Given the description of an element on the screen output the (x, y) to click on. 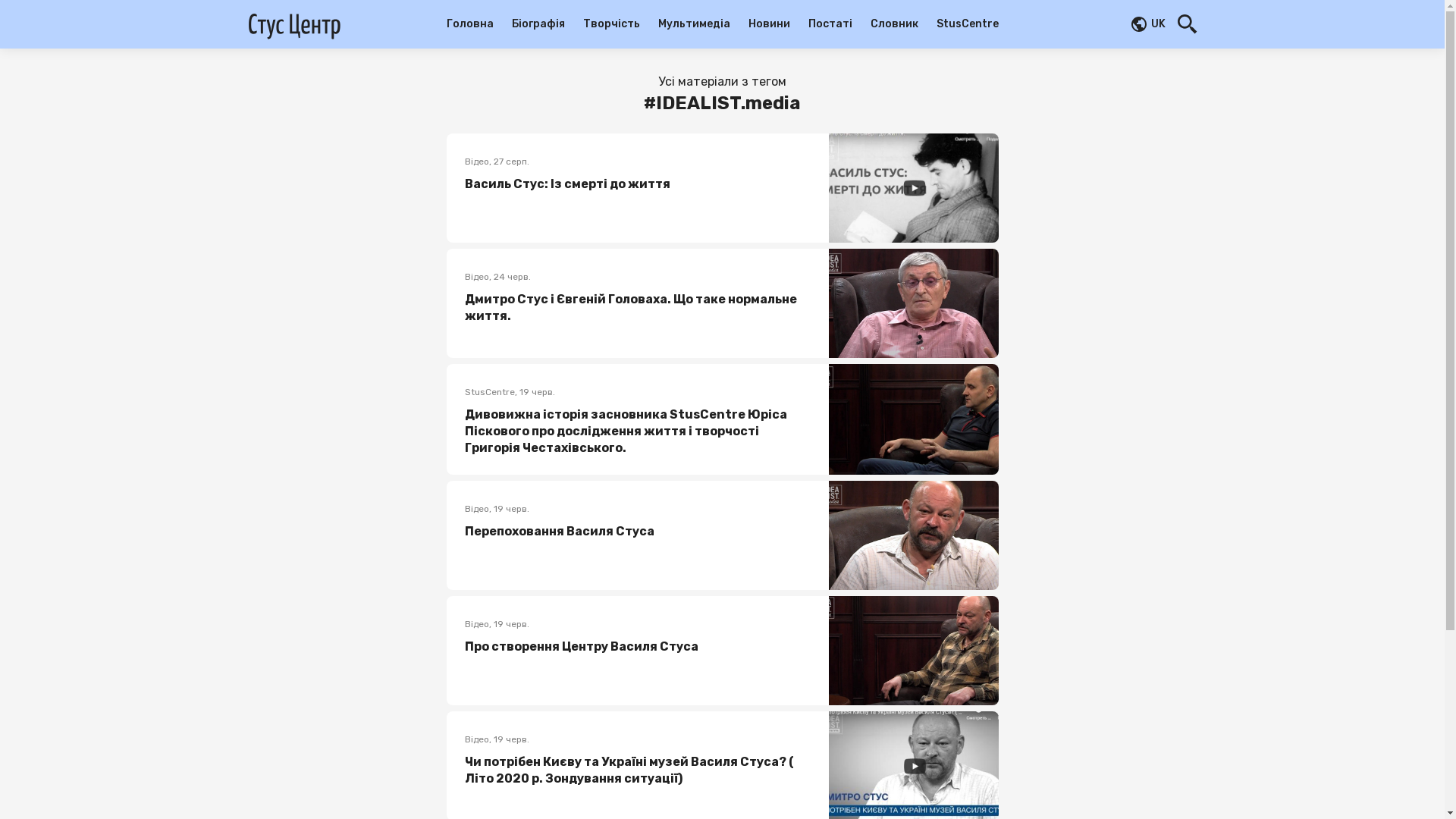
StusCentre Element type: text (966, 24)
